Given the description of an element on the screen output the (x, y) to click on. 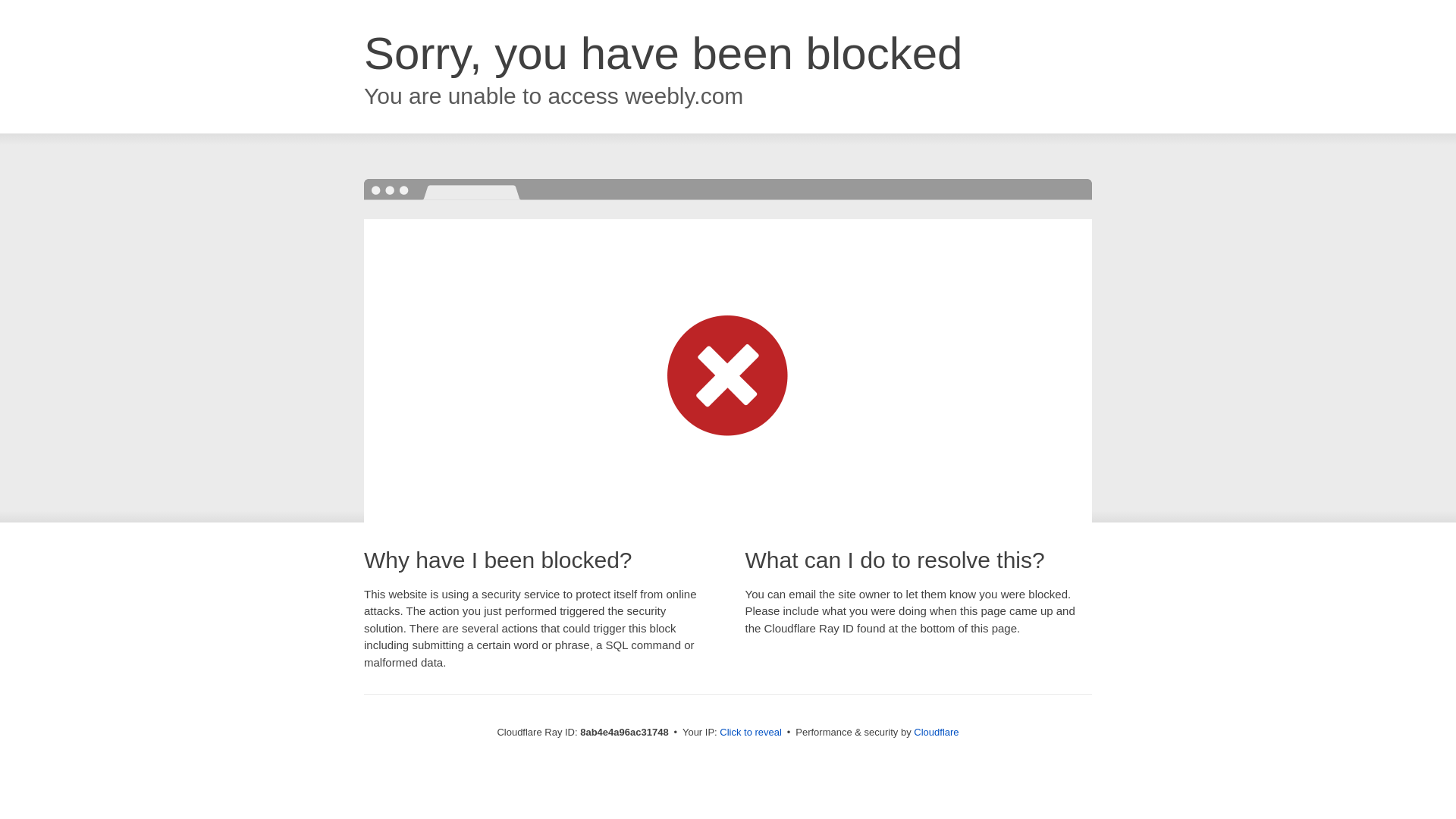
Click to reveal (750, 732)
Cloudflare (936, 731)
